Given the description of an element on the screen output the (x, y) to click on. 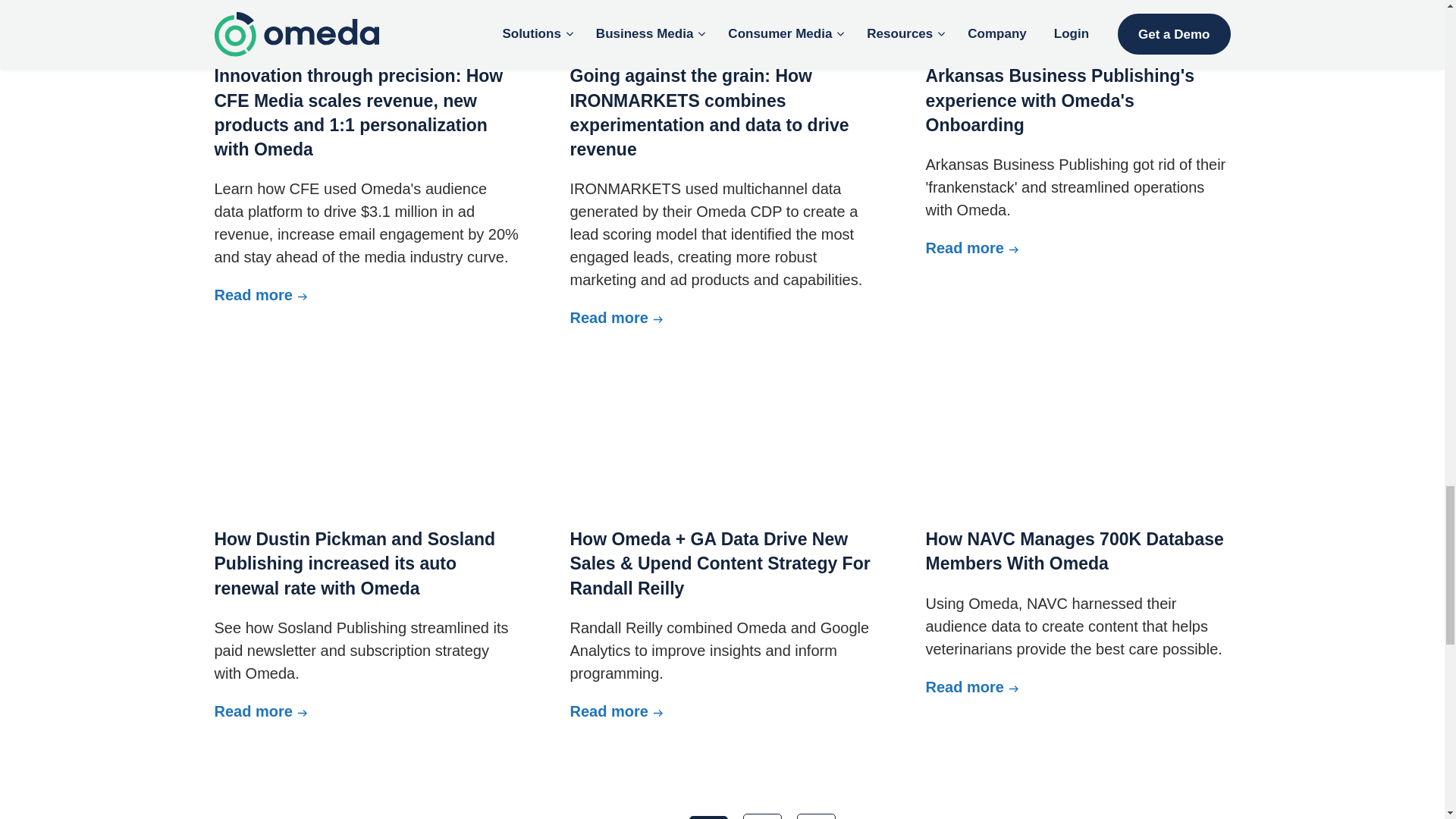
IRONMARKETS customer story (722, 20)
Page 2 (761, 816)
CFE Media customer story (366, 20)
How NAVC Manages 700K Database Members With Omeda (1077, 428)
